Given the description of an element on the screen output the (x, y) to click on. 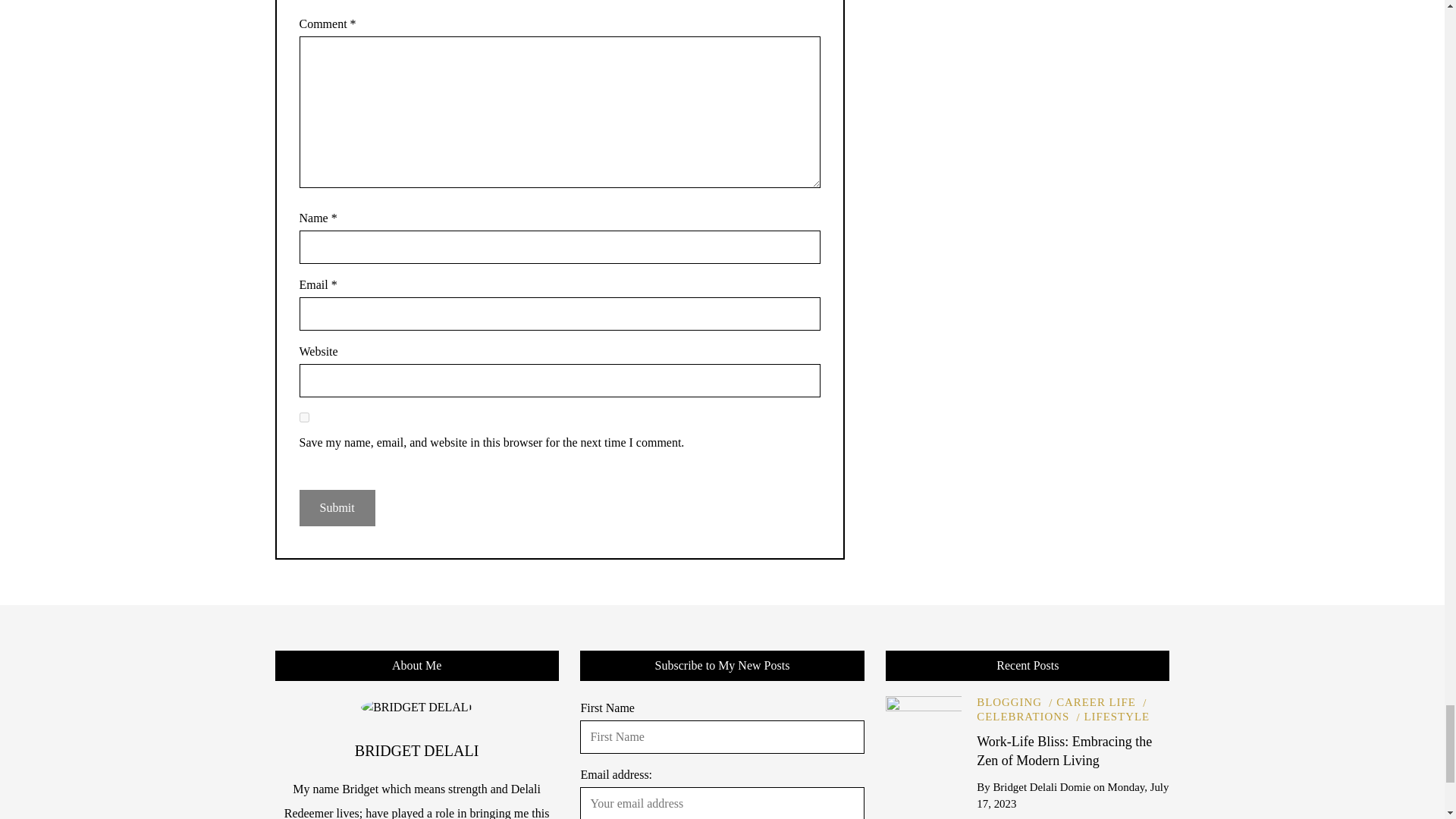
Submit (336, 507)
yes (303, 417)
